Given the description of an element on the screen output the (x, y) to click on. 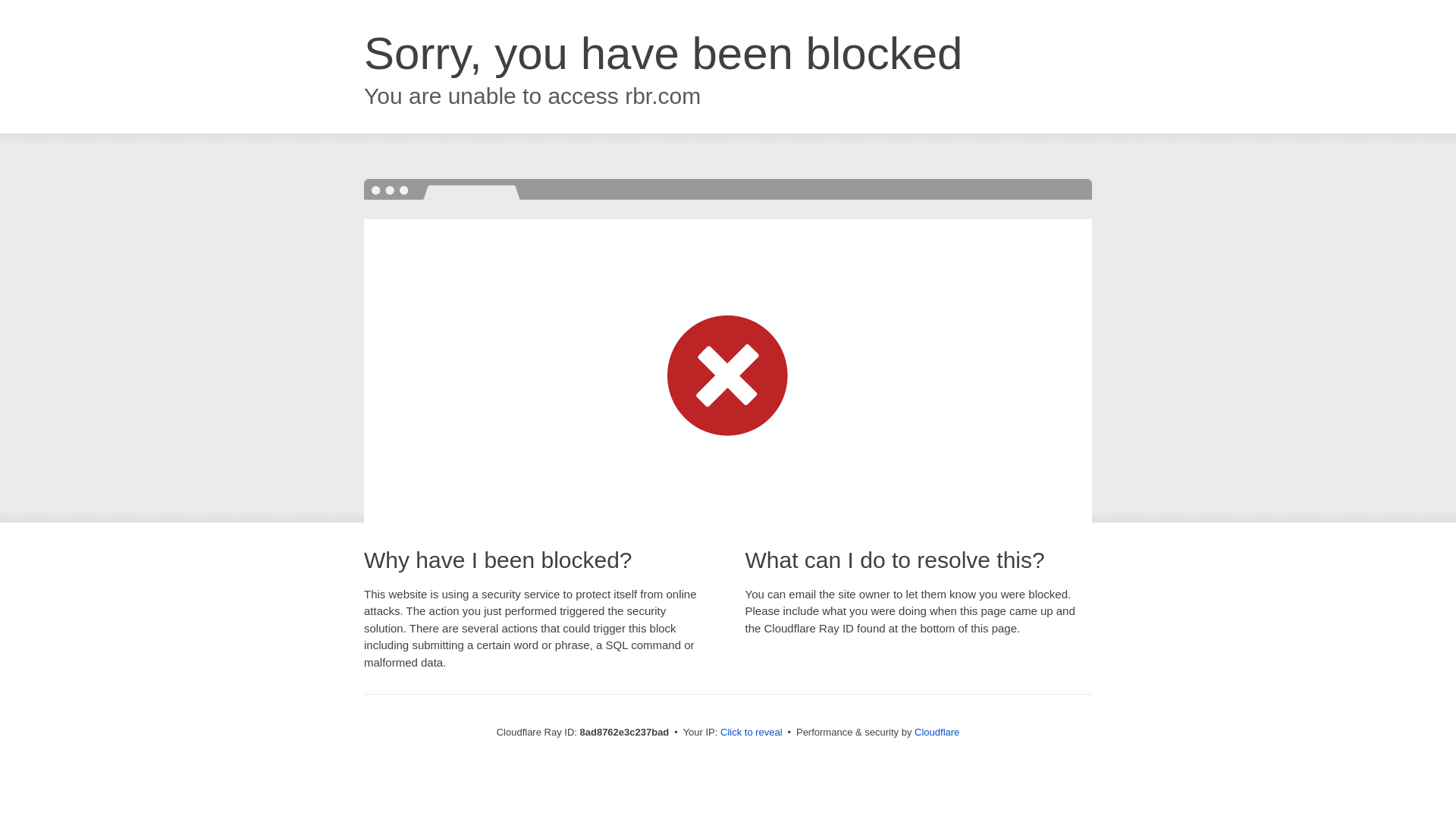
Click to reveal (751, 732)
Cloudflare (936, 731)
